Given the description of an element on the screen output the (x, y) to click on. 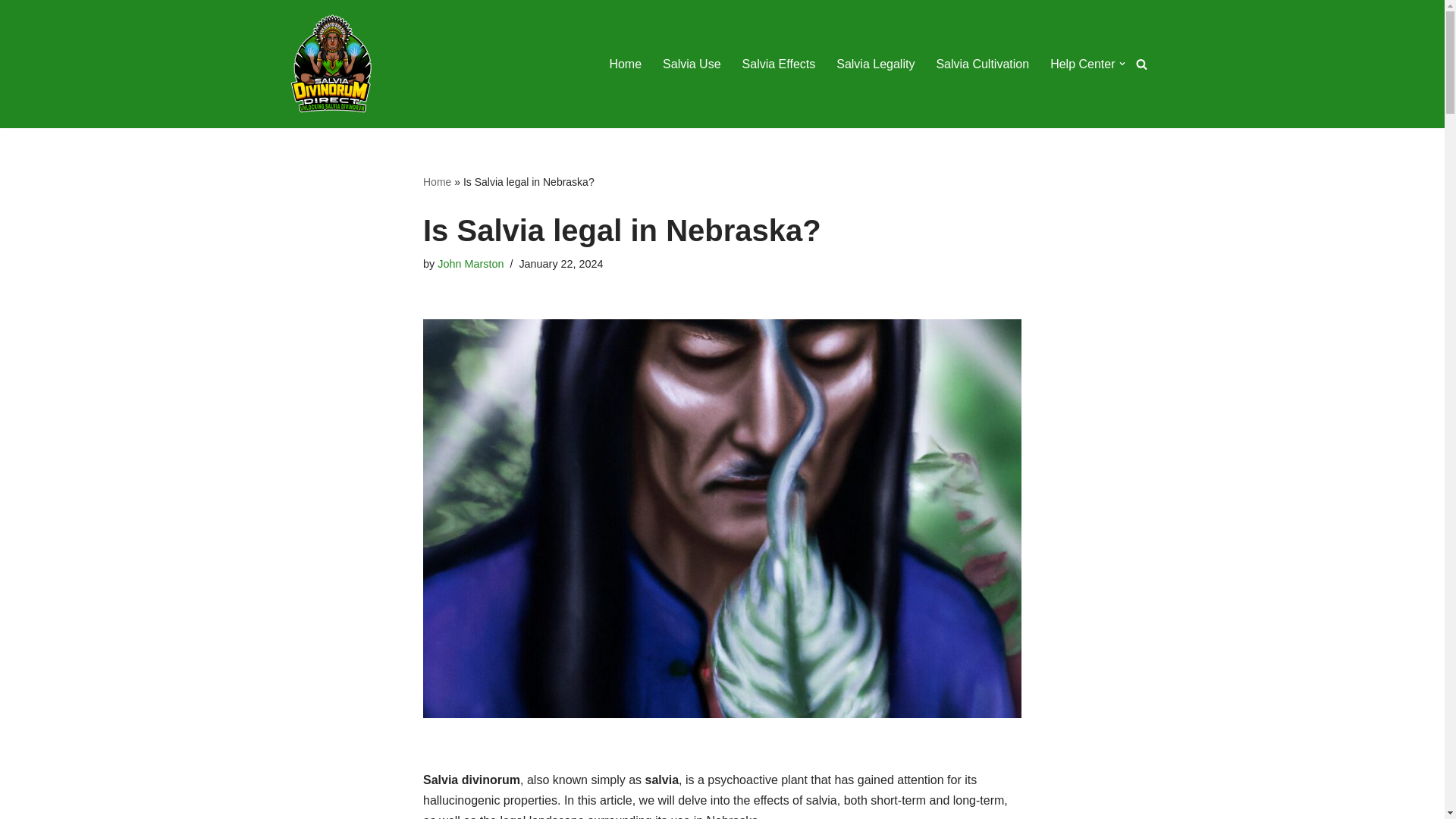
Salvia Effects (778, 64)
Salvia Cultivation (982, 64)
Home (625, 64)
Posts by John Marston (470, 263)
Salvia Use (691, 64)
Home (437, 182)
Salvia Legality (874, 64)
Help Center (1082, 64)
Skip to content (11, 31)
John Marston (470, 263)
